Given the description of an element on the screen output the (x, y) to click on. 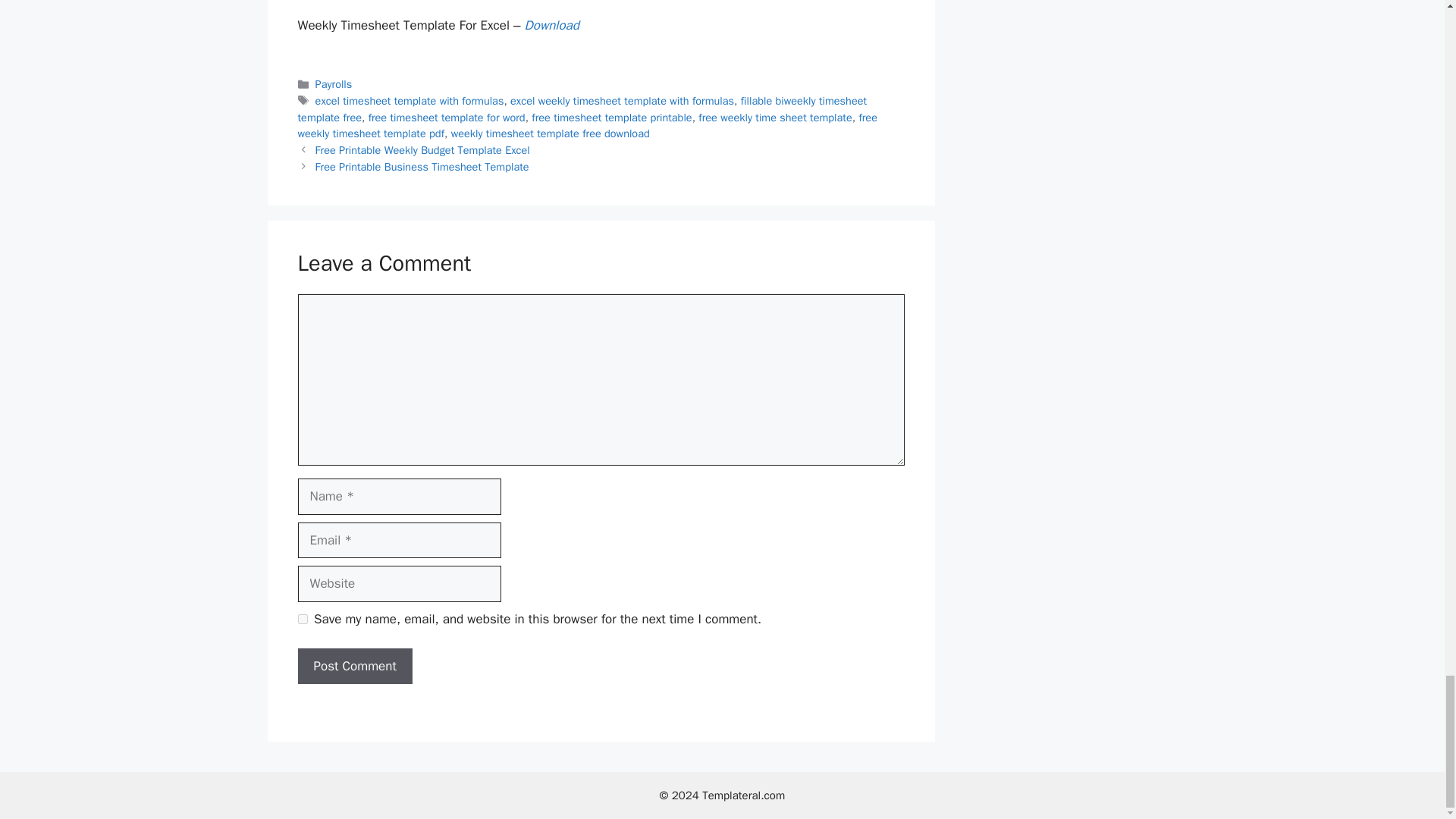
fillable biweekly timesheet template free (581, 109)
free timesheet template for word (446, 116)
Post Comment (354, 666)
weekly timesheet template free download (550, 133)
yes (302, 619)
excel timesheet template with formulas (409, 100)
Free Printable Weekly Budget Template Excel (422, 150)
Free Printable Business Timesheet Template (422, 166)
excel weekly timesheet template with formulas (622, 100)
free weekly time sheet template (774, 116)
